Given the description of an element on the screen output the (x, y) to click on. 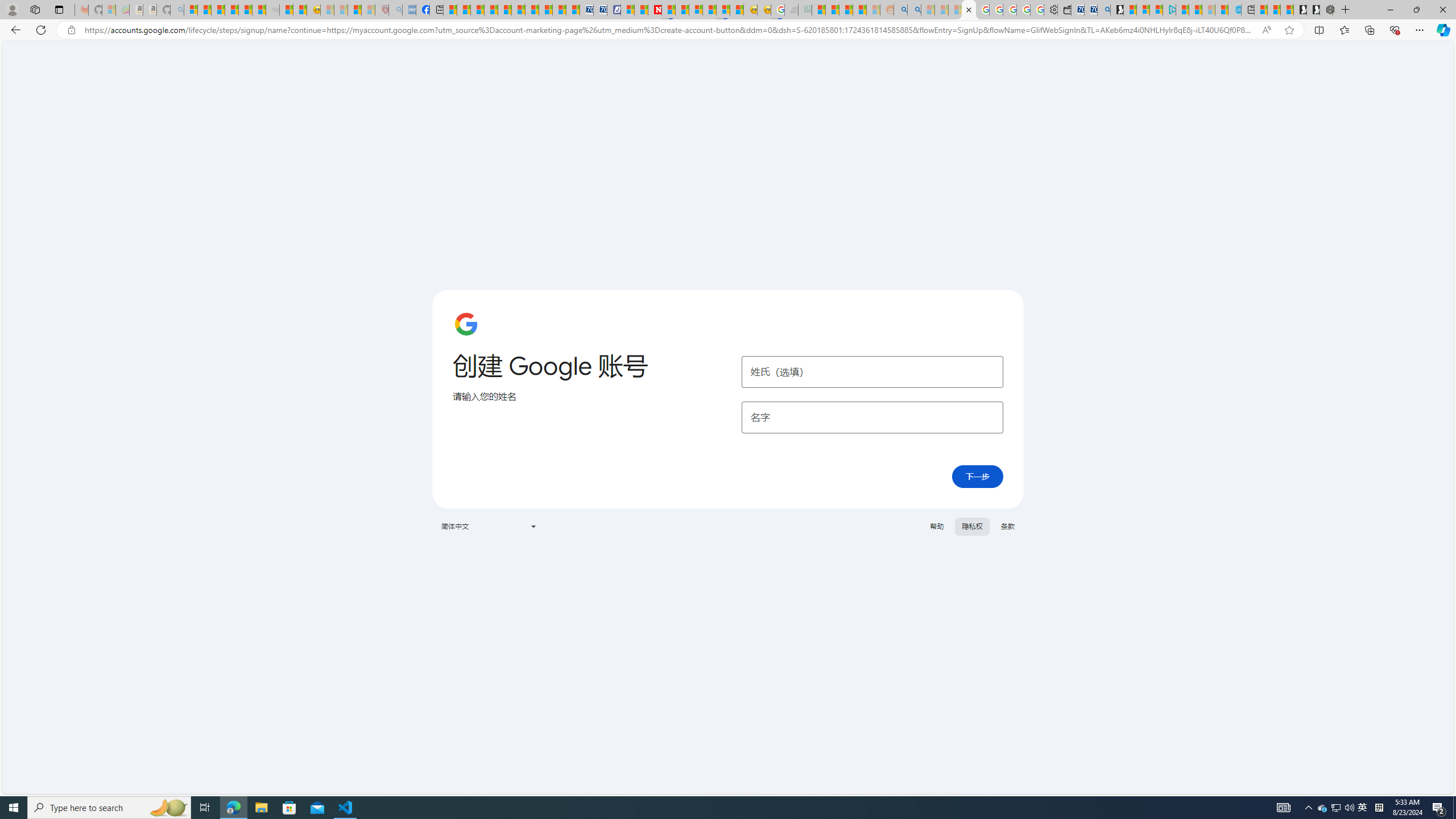
Microsoft-Report a Concern to Bing - Sleeping (108, 9)
12 Popular Science Lies that Must be Corrected - Sleeping (368, 9)
Climate Damage Becomes Too Severe To Reverse (490, 9)
Play Free Online Games | Games from Microsoft Start (1312, 9)
DITOGAMES AG Imprint - Sleeping (804, 9)
Cheap Car Rentals - Save70.com (1090, 9)
